Given the description of an element on the screen output the (x, y) to click on. 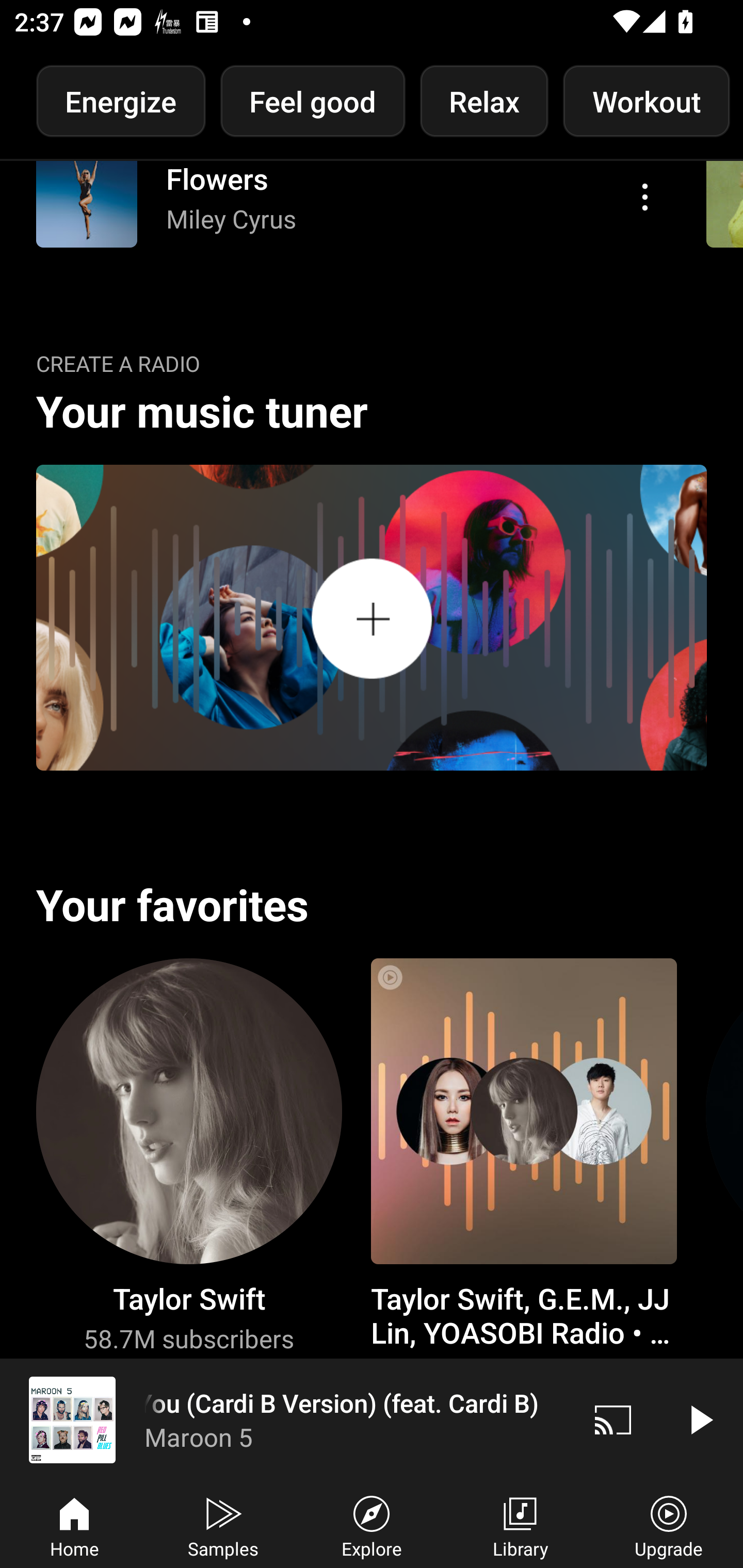
Action menu (349, 211)
Action menu (644, 204)
Cast. Disconnected (612, 1419)
Play video (699, 1419)
Home (74, 1524)
Samples (222, 1524)
Explore (371, 1524)
Library (519, 1524)
Upgrade (668, 1524)
